Given the description of an element on the screen output the (x, y) to click on. 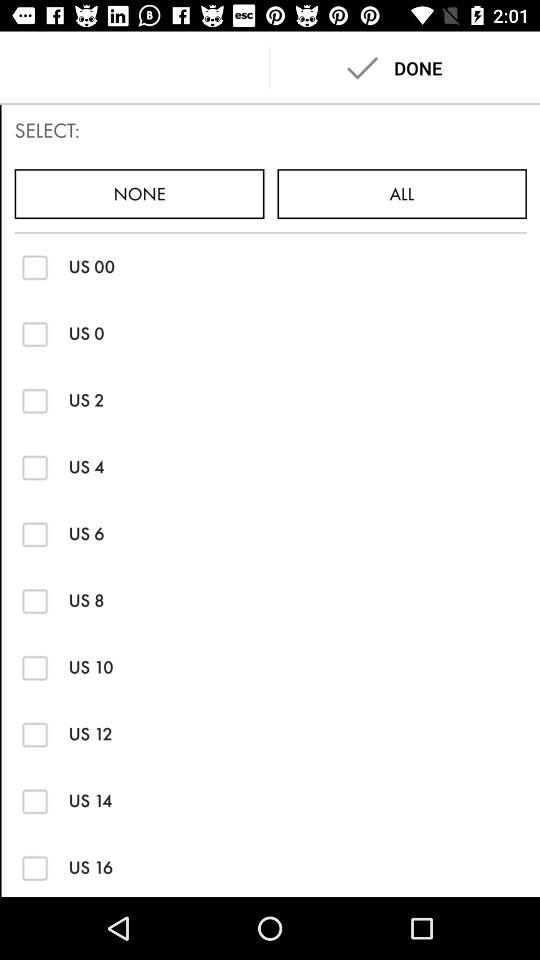
select size us 14 (34, 800)
